Given the description of an element on the screen output the (x, y) to click on. 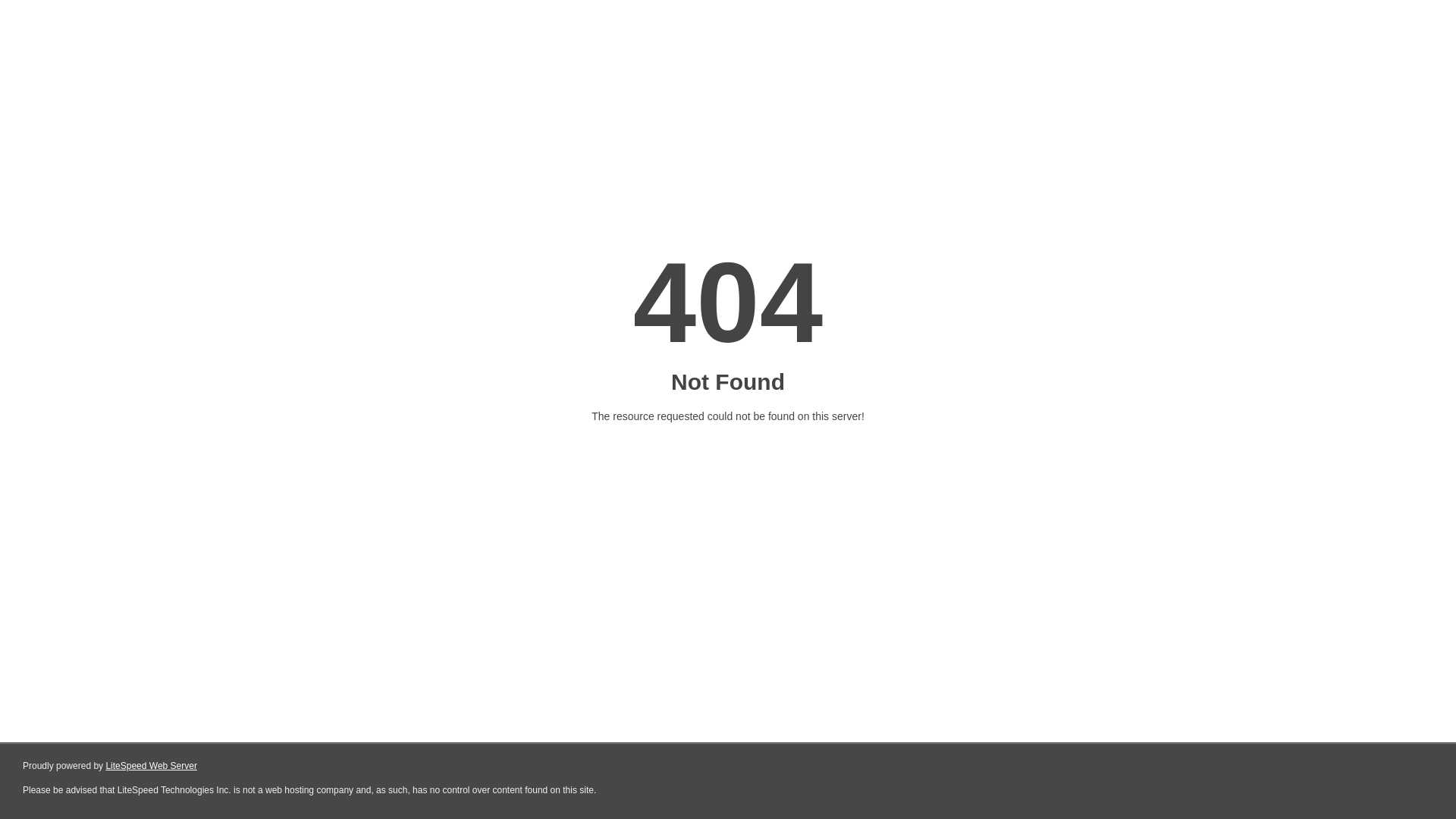
LiteSpeed Web Server Element type: text (151, 765)
